Given the description of an element on the screen output the (x, y) to click on. 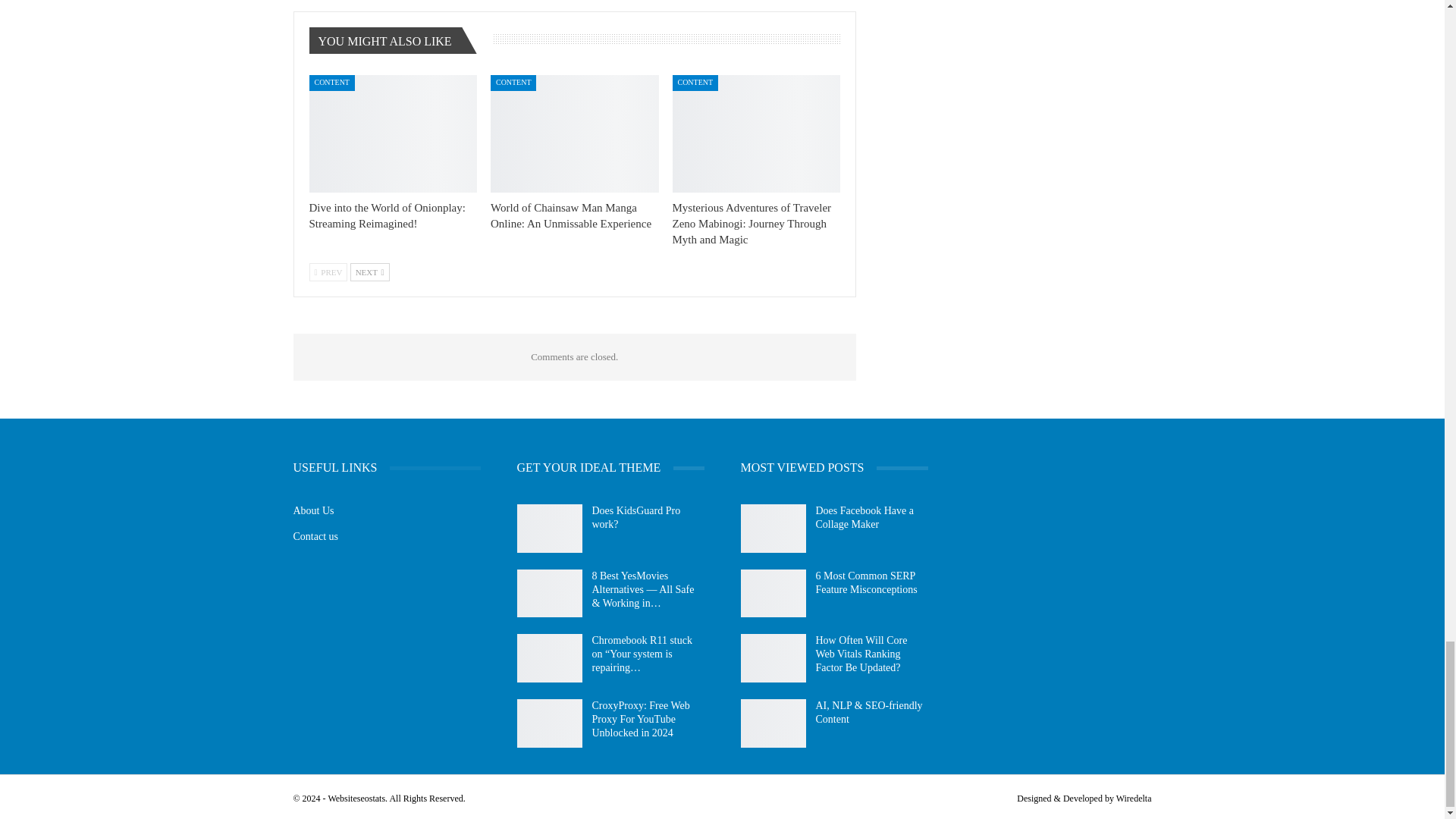
Dive into the World of Onionplay: Streaming Reimagined! (386, 215)
Dive into the World of Onionplay: Streaming Reimagined! (392, 133)
YOU MIGHT ALSO LIKE (389, 41)
Does KidsGuard Pro work? (549, 528)
World of Chainsaw Man Manga Online: An Unmissable Experience (574, 133)
Previous (327, 271)
Dive into the World of Onionplay: Streaming Reimagined! (386, 215)
World of Chainsaw Man Manga Online: An Unmissable Experience (570, 215)
Next (370, 271)
